Given the description of an element on the screen output the (x, y) to click on. 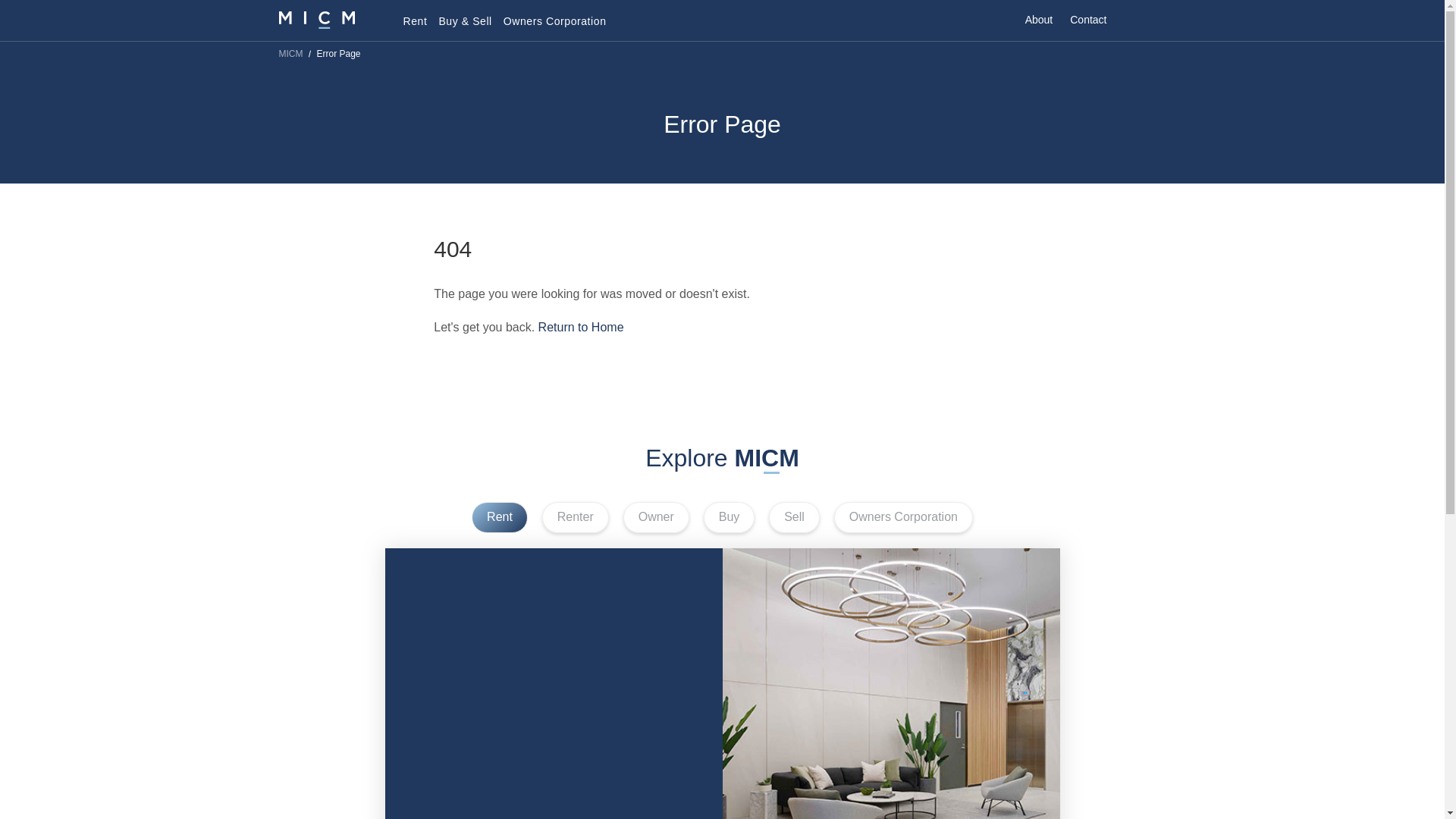
About (1039, 26)
Return to Home (581, 327)
Sell (793, 517)
MICM (581, 327)
Renter (574, 517)
Owner (655, 517)
Owners Corporation (555, 26)
Owners Corporation (903, 517)
Buy (729, 517)
Rent (499, 517)
